Given the description of an element on the screen output the (x, y) to click on. 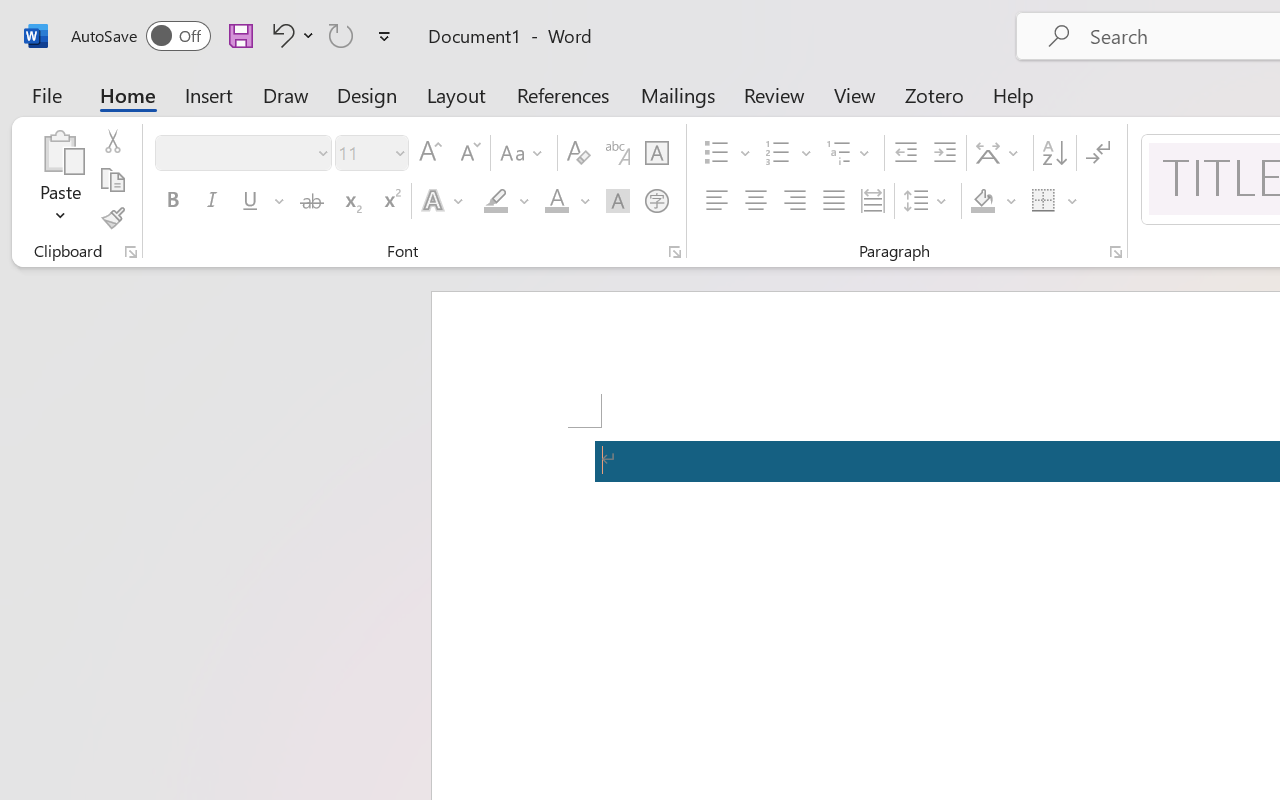
Undo Apply Quick Style Set (280, 35)
